Given the description of an element on the screen output the (x, y) to click on. 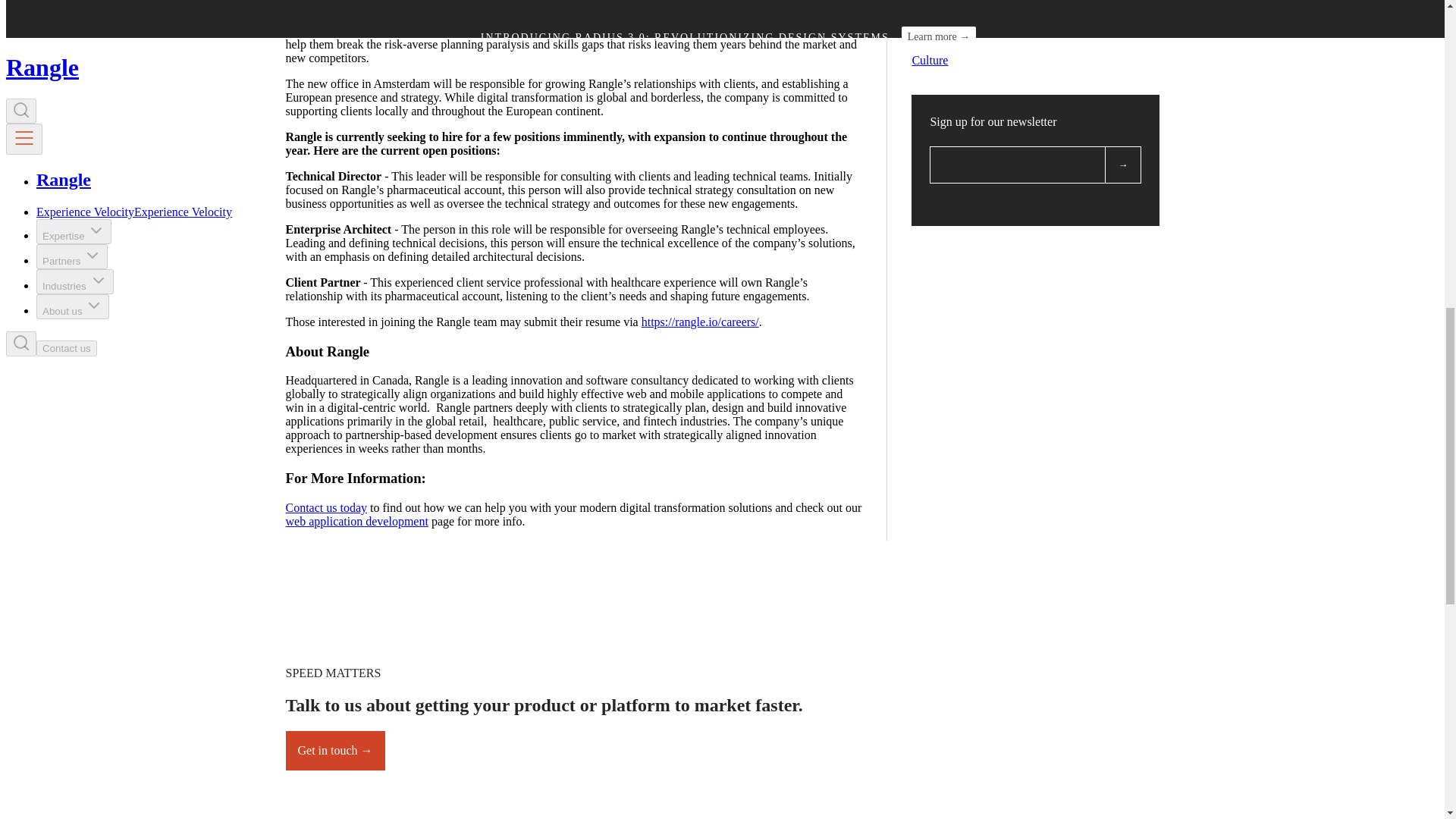
web application development (356, 521)
Contact us today (325, 507)
